Given the description of an element on the screen output the (x, y) to click on. 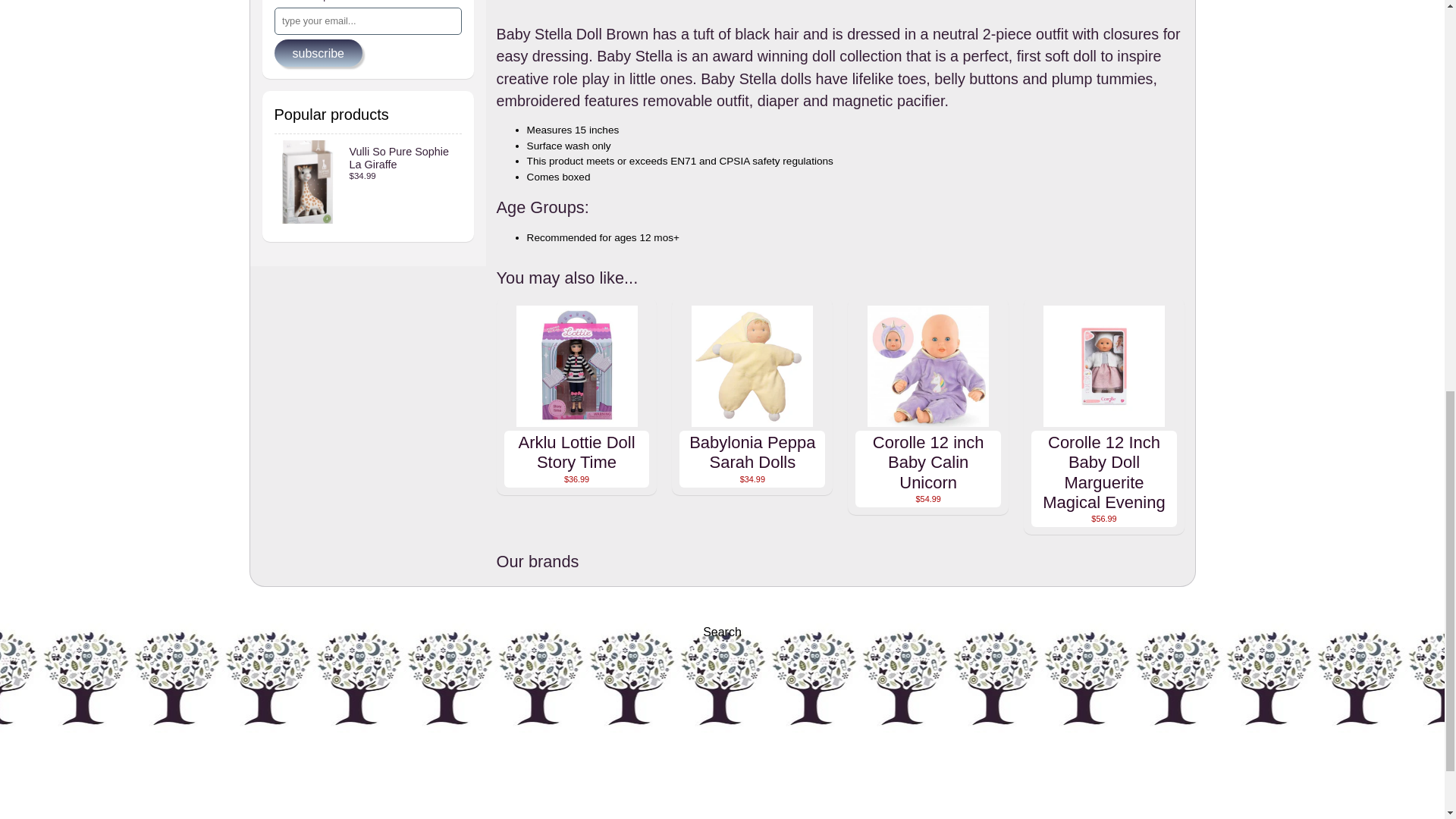
Our brands (840, 562)
Our brands (840, 562)
